Given the description of an element on the screen output the (x, y) to click on. 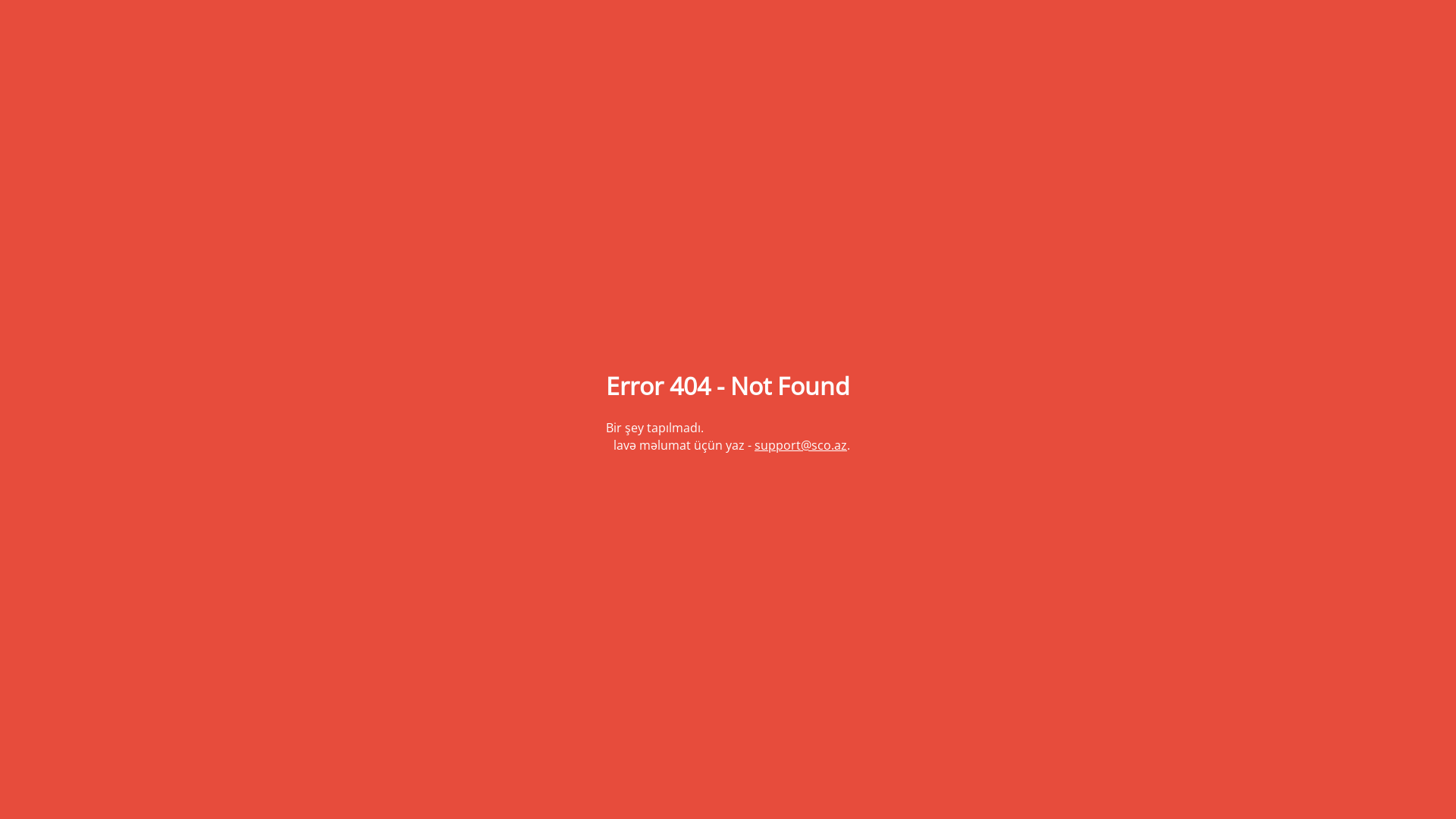
support@sco.az Element type: text (800, 444)
